Given the description of an element on the screen output the (x, y) to click on. 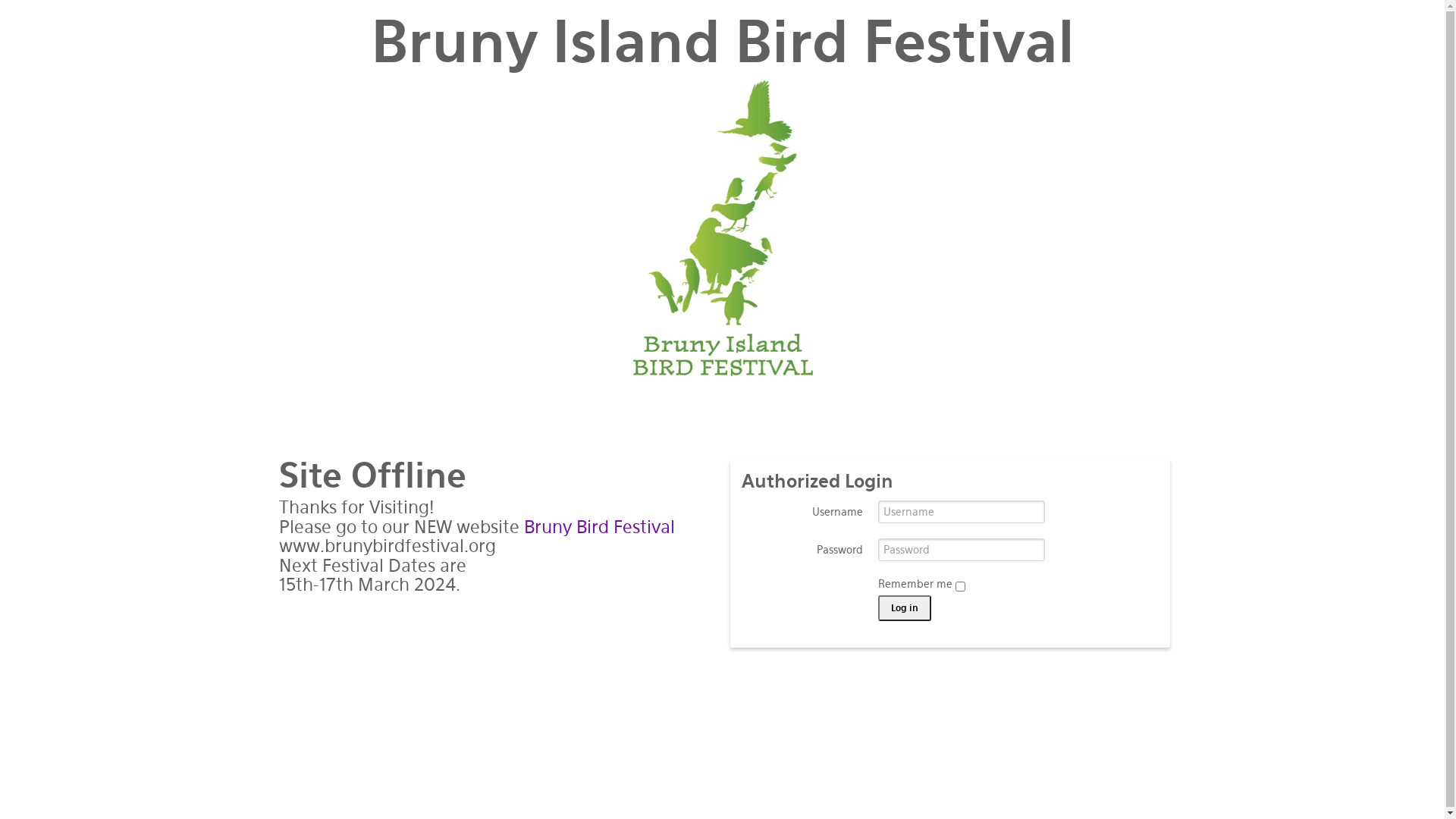
Log in Element type: text (904, 608)
Bruny Bird Festival Element type: text (598, 526)
